Given the description of an element on the screen output the (x, y) to click on. 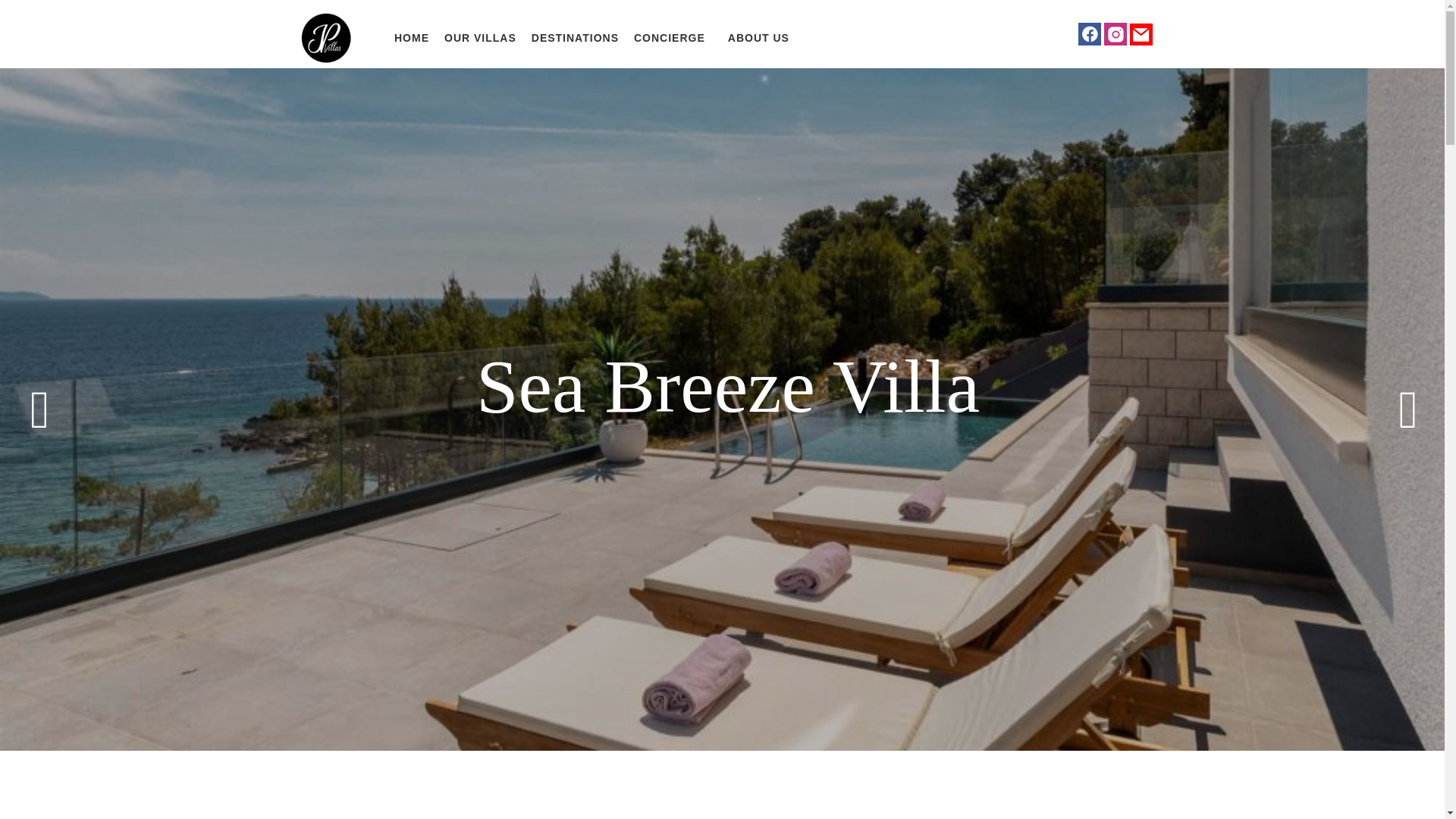
HOME (411, 37)
ABOUT US (751, 37)
CONCIERGE (669, 37)
OUR VILLAS (480, 37)
DESTINATIONS (575, 37)
